Given the description of an element on the screen output the (x, y) to click on. 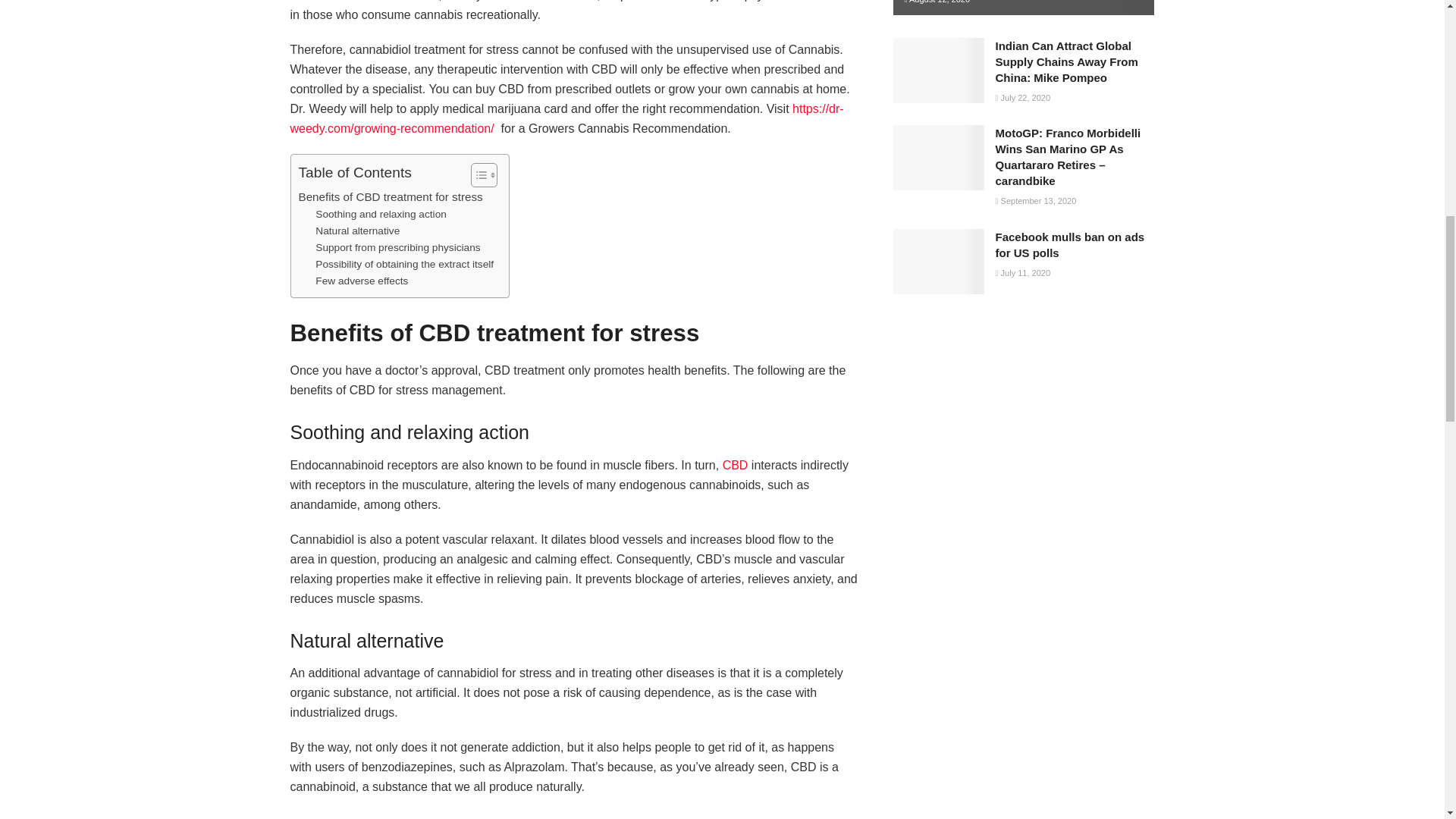
Soothing and relaxing action (380, 214)
Support from prescribing physicians (397, 247)
Few adverse effects (361, 280)
Natural alternative (356, 230)
Benefits of CBD treatment for stress (390, 197)
Possibility of obtaining the extract itself (404, 264)
